Given the description of an element on the screen output the (x, y) to click on. 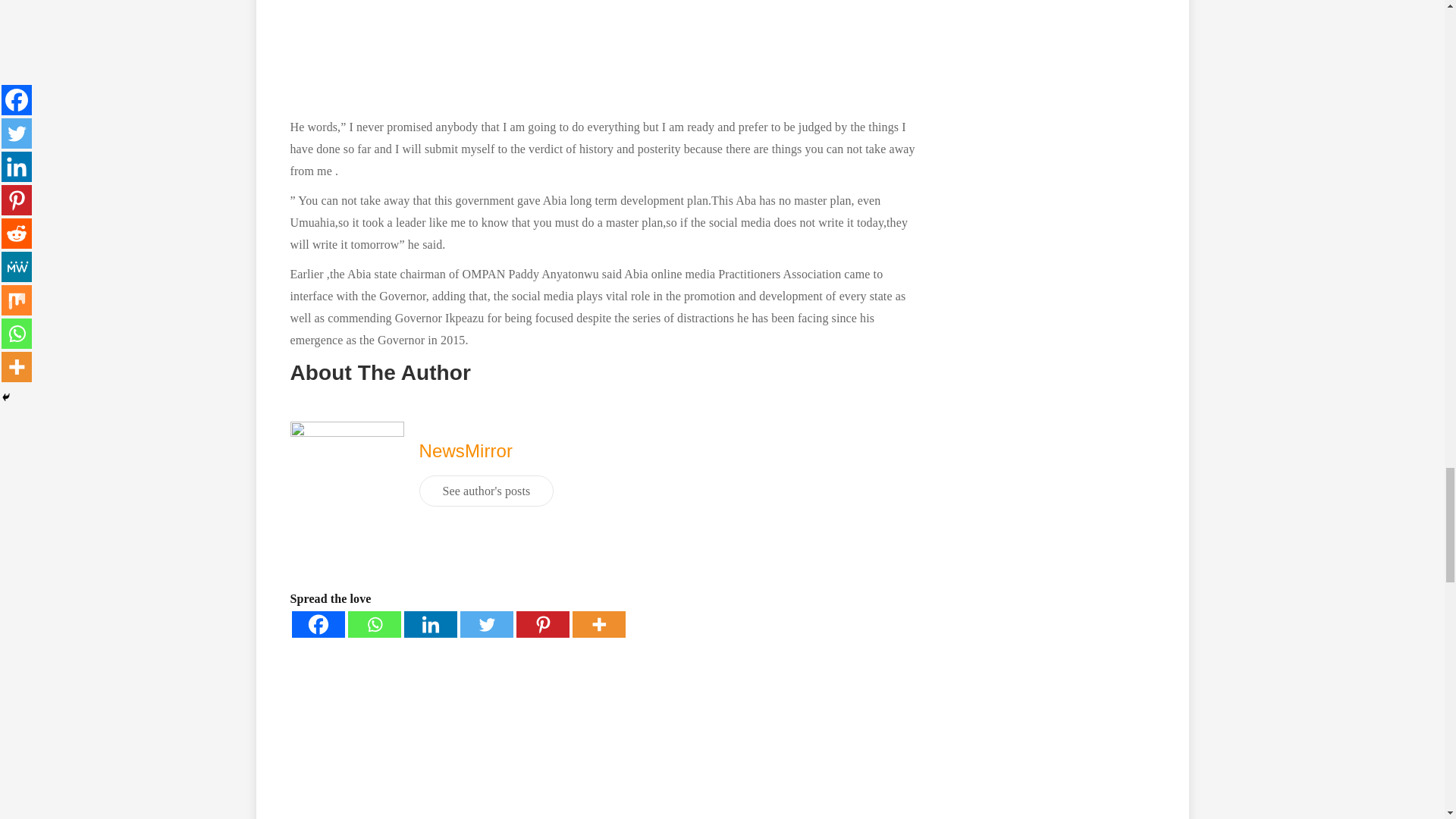
NewsMirror (465, 450)
